Given the description of an element on the screen output the (x, y) to click on. 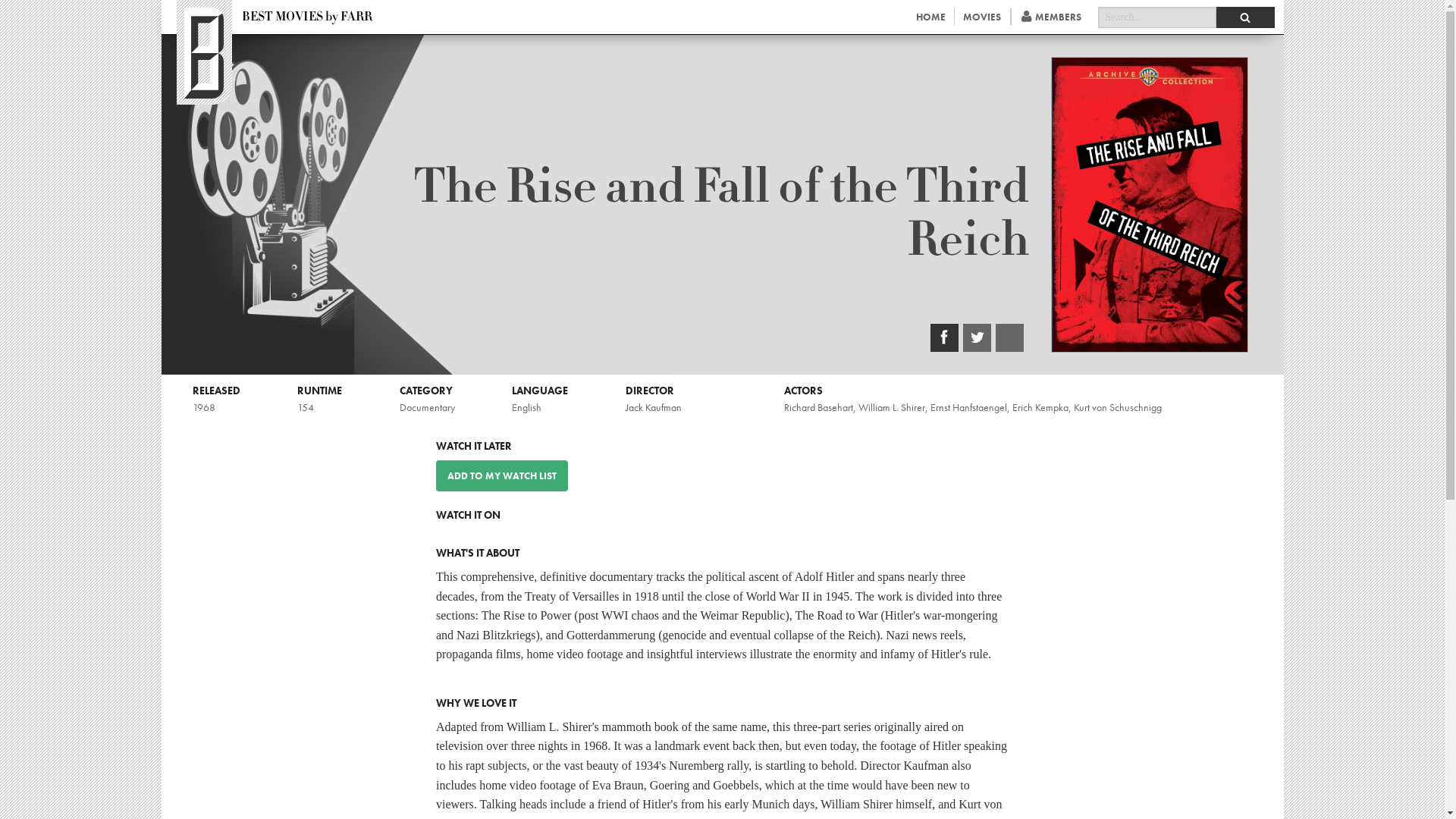
ADD TO MY WATCH LIST (501, 475)
William L. Shirer (891, 407)
MOVIES (982, 17)
English (526, 407)
MEMBERS (1050, 17)
Richard Basehart (818, 407)
HOME (930, 17)
BEST MOVIES by FARR (306, 17)
Jack Kaufman (653, 407)
The Rise and Fall of the Third Reich Poster (1149, 204)
Erich Kempka (1039, 407)
Documentary (426, 407)
Kurt von Schuschnigg (1117, 407)
Ernst Hanfstaengel (968, 407)
